Given the description of an element on the screen output the (x, y) to click on. 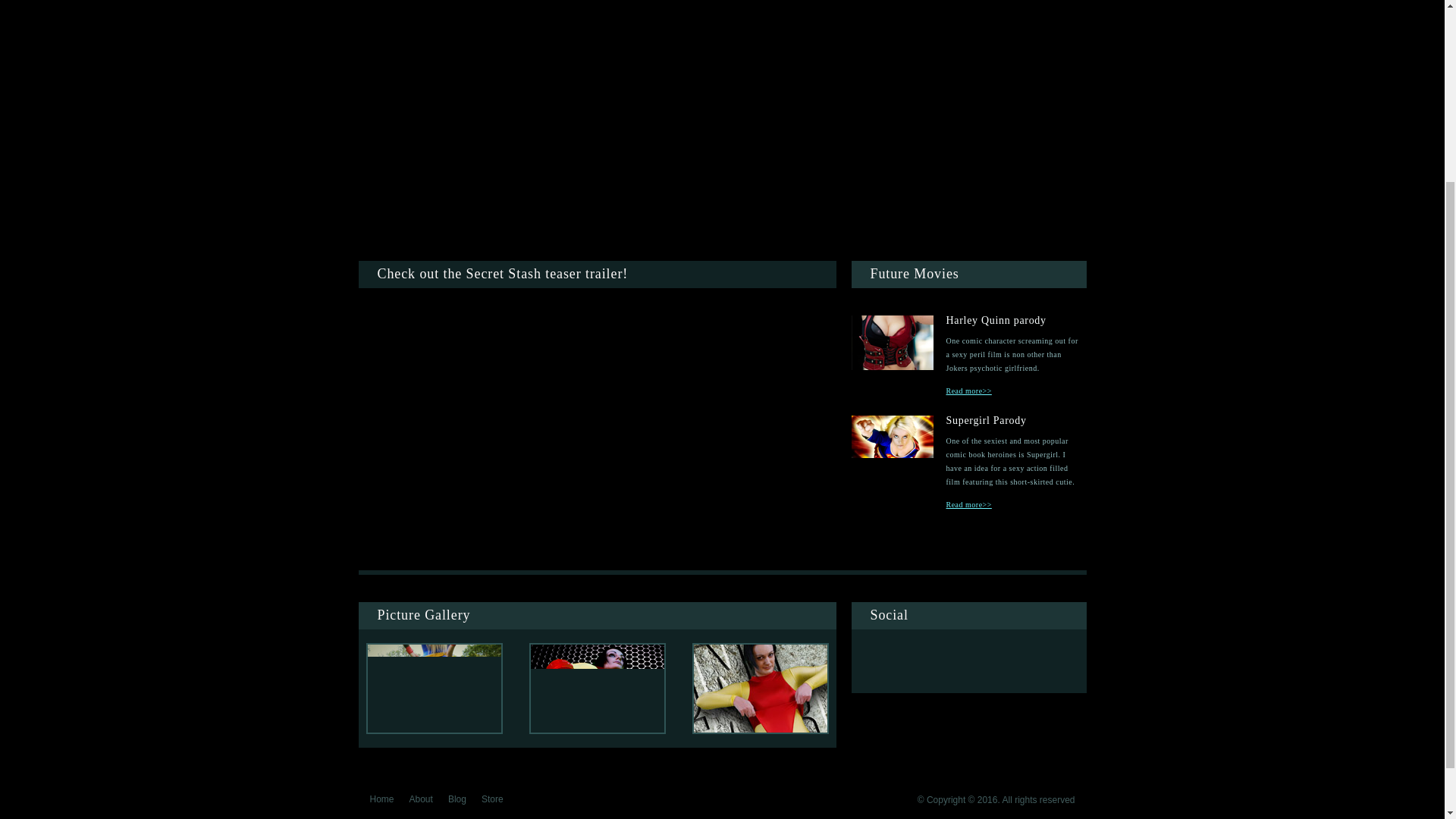
Home (381, 798)
youtube (997, 658)
fb (936, 658)
twitter (879, 658)
wordpress (1058, 658)
Store (492, 798)
About (420, 798)
Blog (456, 798)
